Given the description of an element on the screen output the (x, y) to click on. 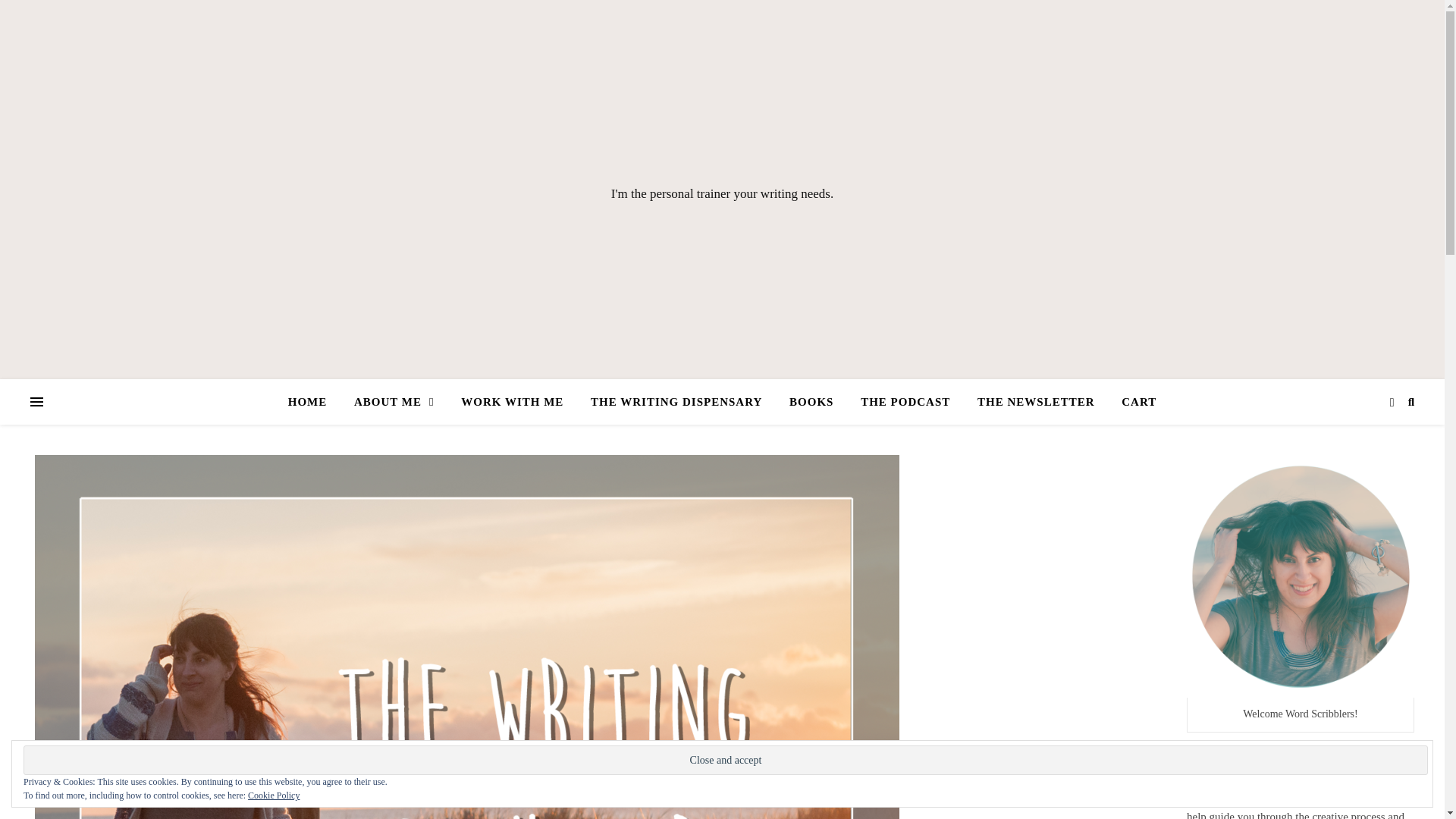
BOOKS (811, 402)
Close and accept (725, 759)
THE PODCAST (905, 402)
Shop (676, 402)
THE WRITING DISPENSARY (676, 402)
ABOUT ME (393, 402)
WORK WITH ME (511, 402)
Close and accept (725, 759)
CART (1132, 402)
HOME (313, 402)
